Given the description of an element on the screen output the (x, y) to click on. 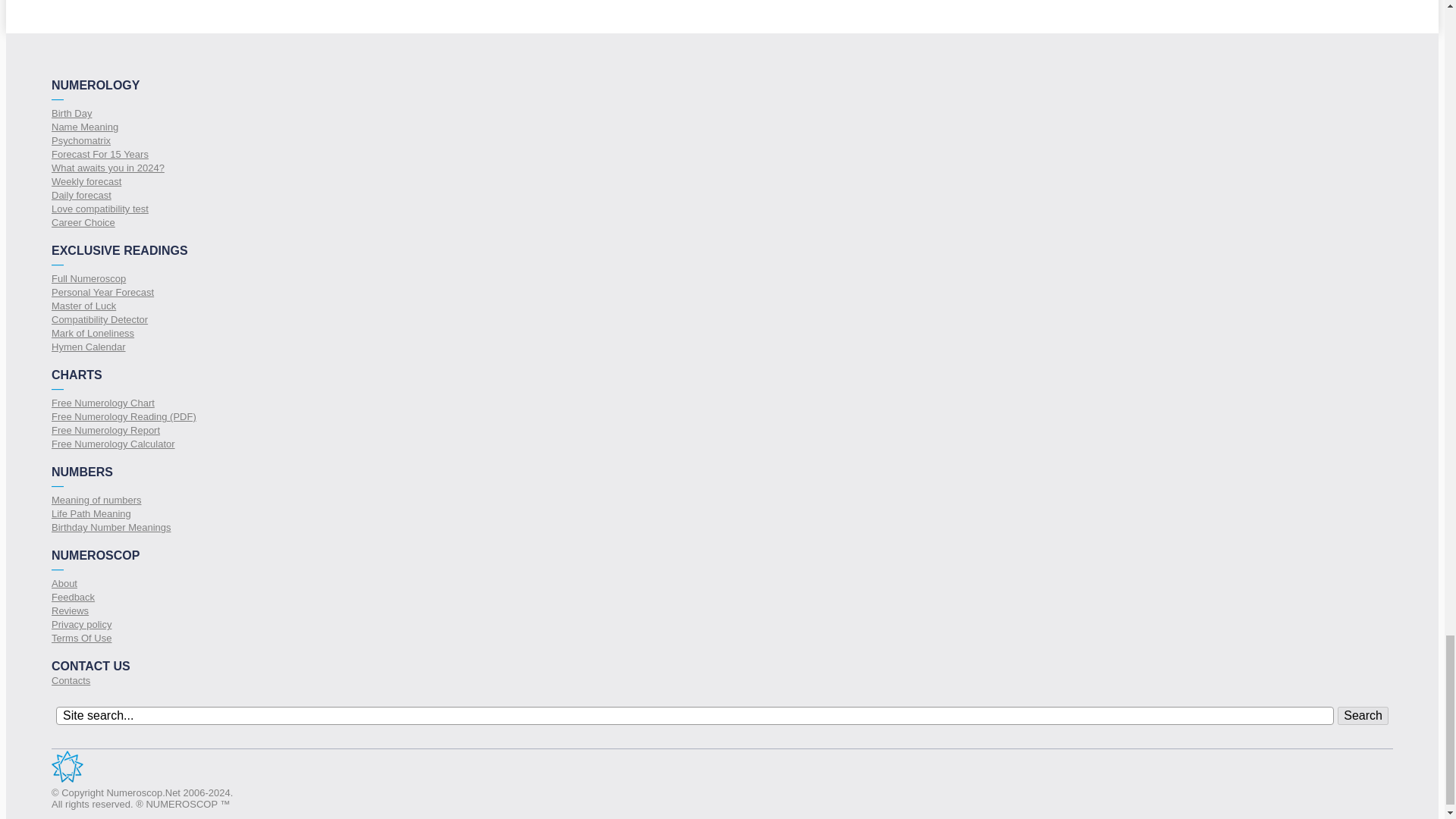
Search (1363, 715)
